Given the description of an element on the screen output the (x, y) to click on. 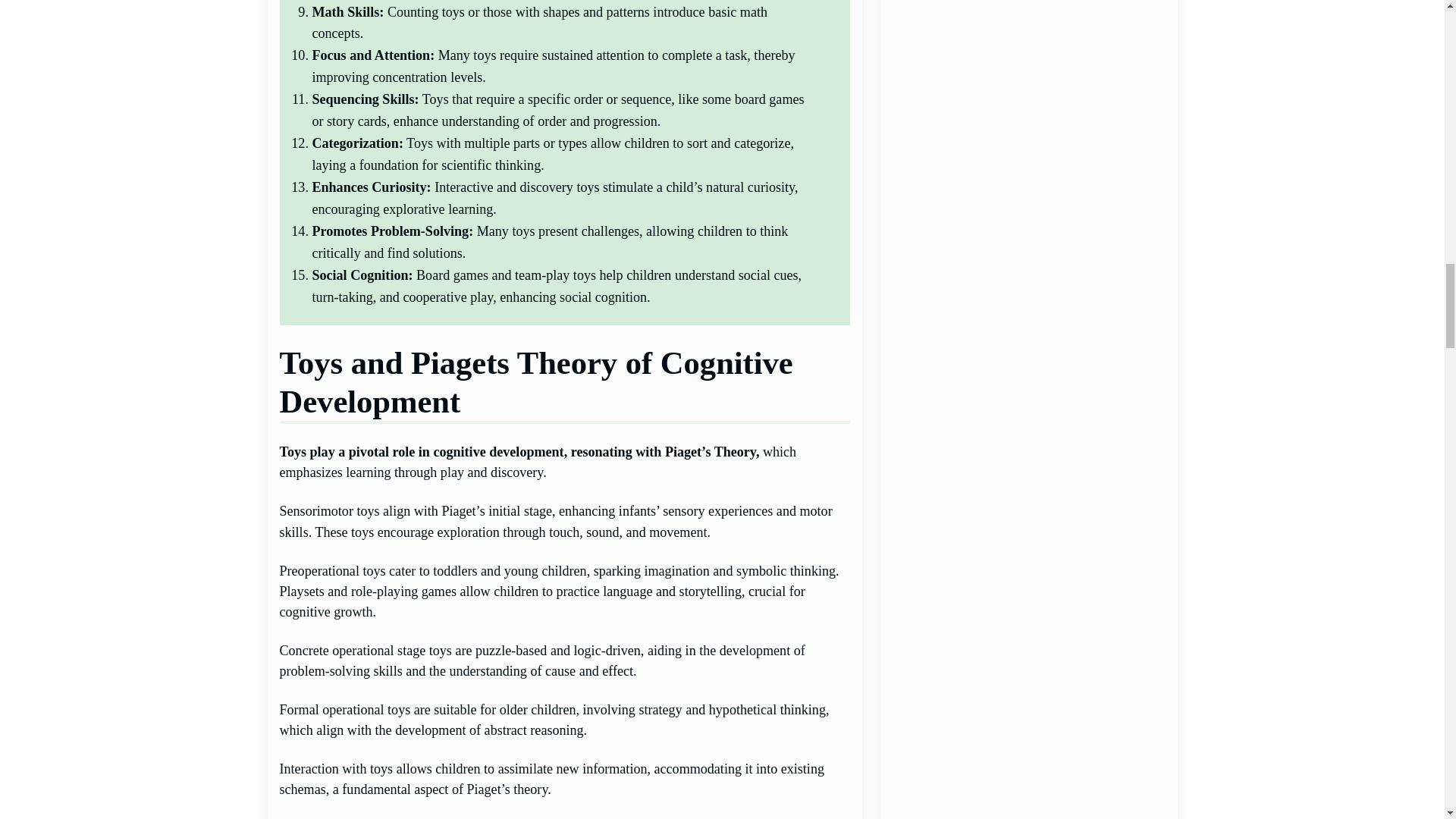
Best Toys For 3 Month Old Babies 20 (1027, 497)
